Given the description of an element on the screen output the (x, y) to click on. 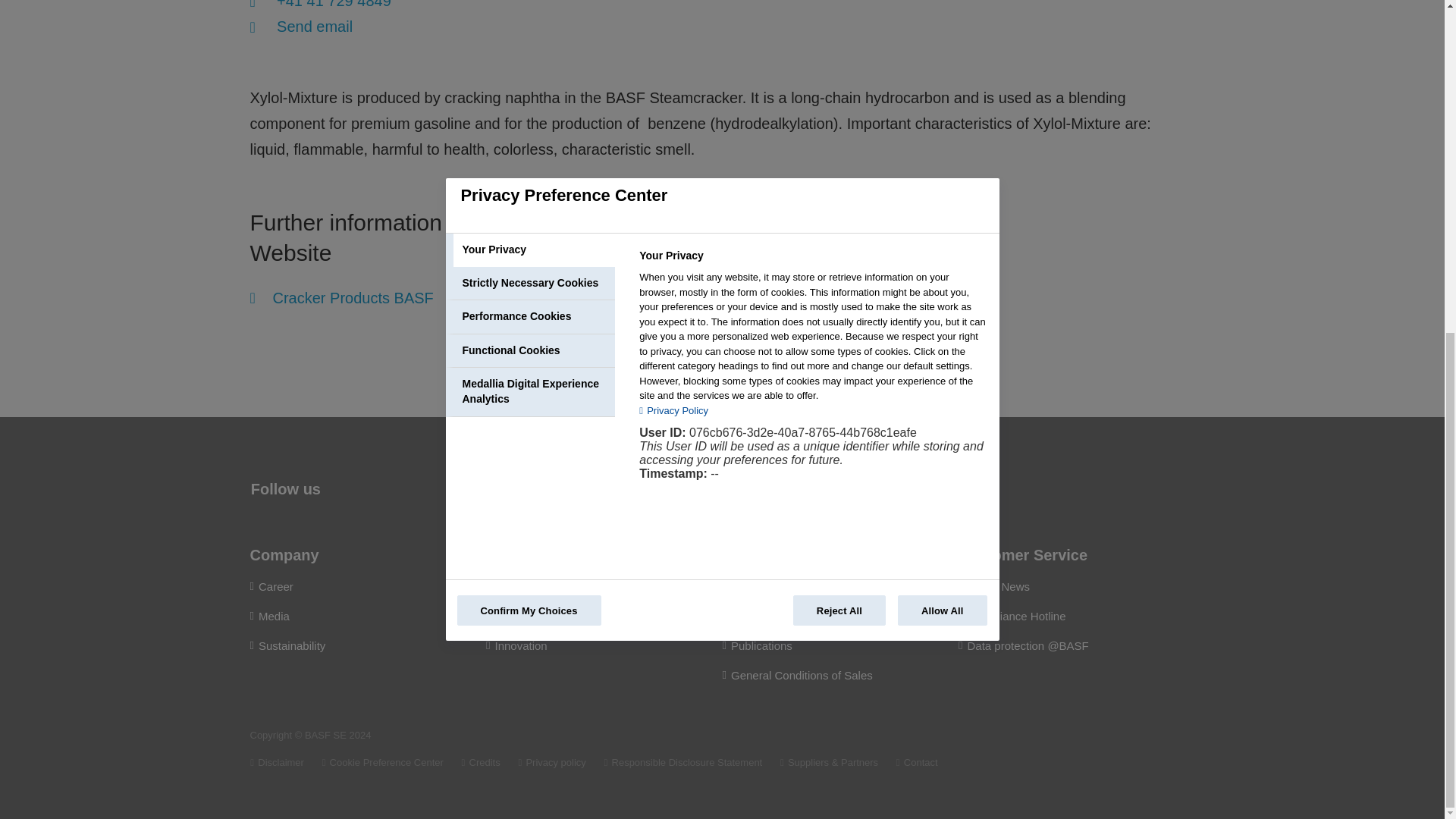
Credits (480, 762)
Contact (916, 762)
Send email (301, 26)
Responsible Disclosure Statement (683, 762)
Cookie Preference Center (382, 762)
Privacy policy (551, 762)
Cracker Products BASF (341, 297)
Disclaimer (277, 762)
